Given the description of an element on the screen output the (x, y) to click on. 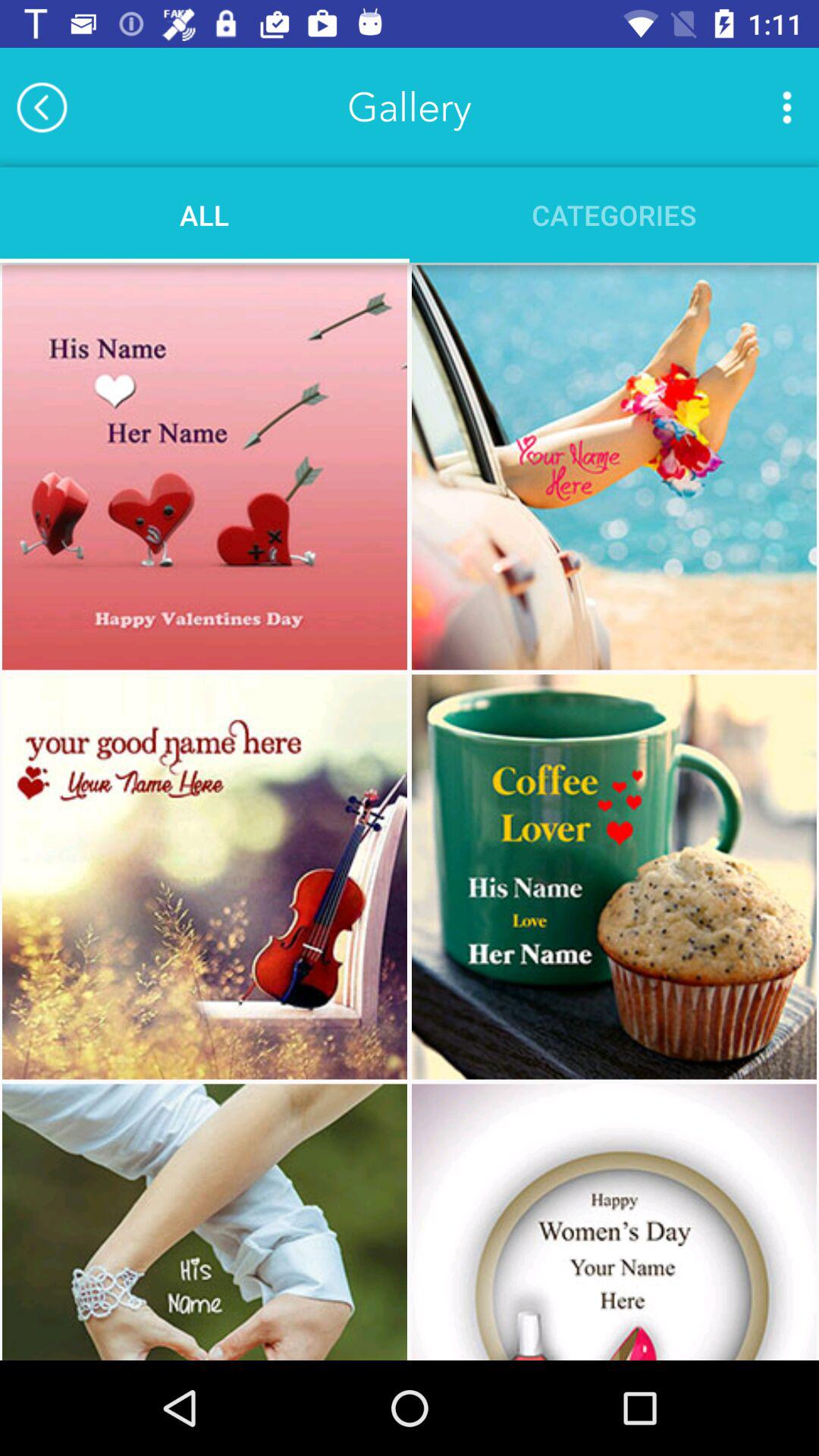
open menu (787, 107)
